Given the description of an element on the screen output the (x, y) to click on. 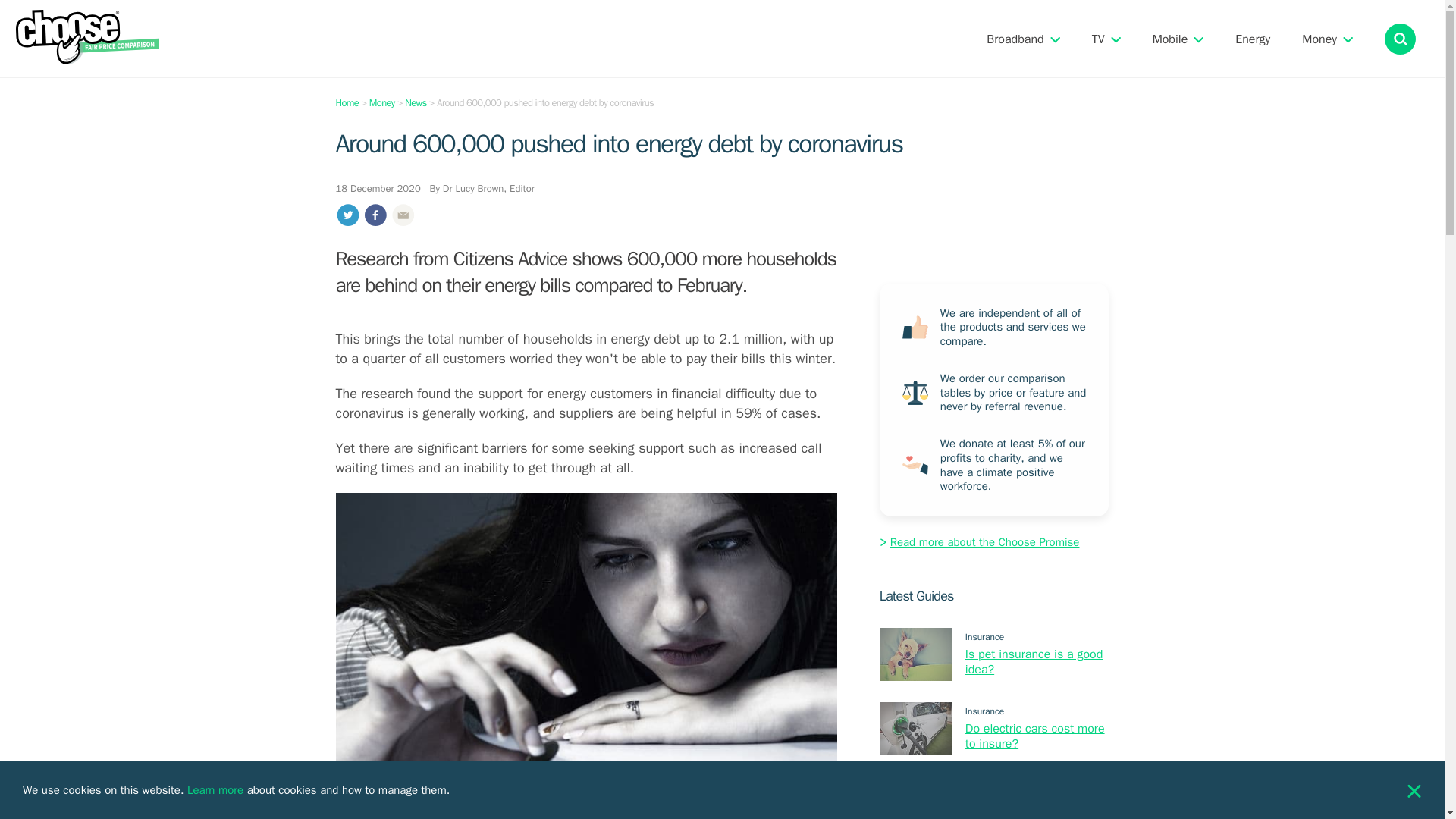
Broadband (1015, 38)
Dr Lucy Brown (472, 187)
News (415, 102)
Home (346, 102)
Do electric cars cost more to insure? (1035, 735)
Read more about the Choose Promise (979, 541)
Money (1318, 38)
Mobile (1170, 38)
Energy (1251, 38)
Is pet insurance is a good idea? (1034, 661)
Money (381, 102)
TV (1098, 38)
